Given the description of an element on the screen output the (x, y) to click on. 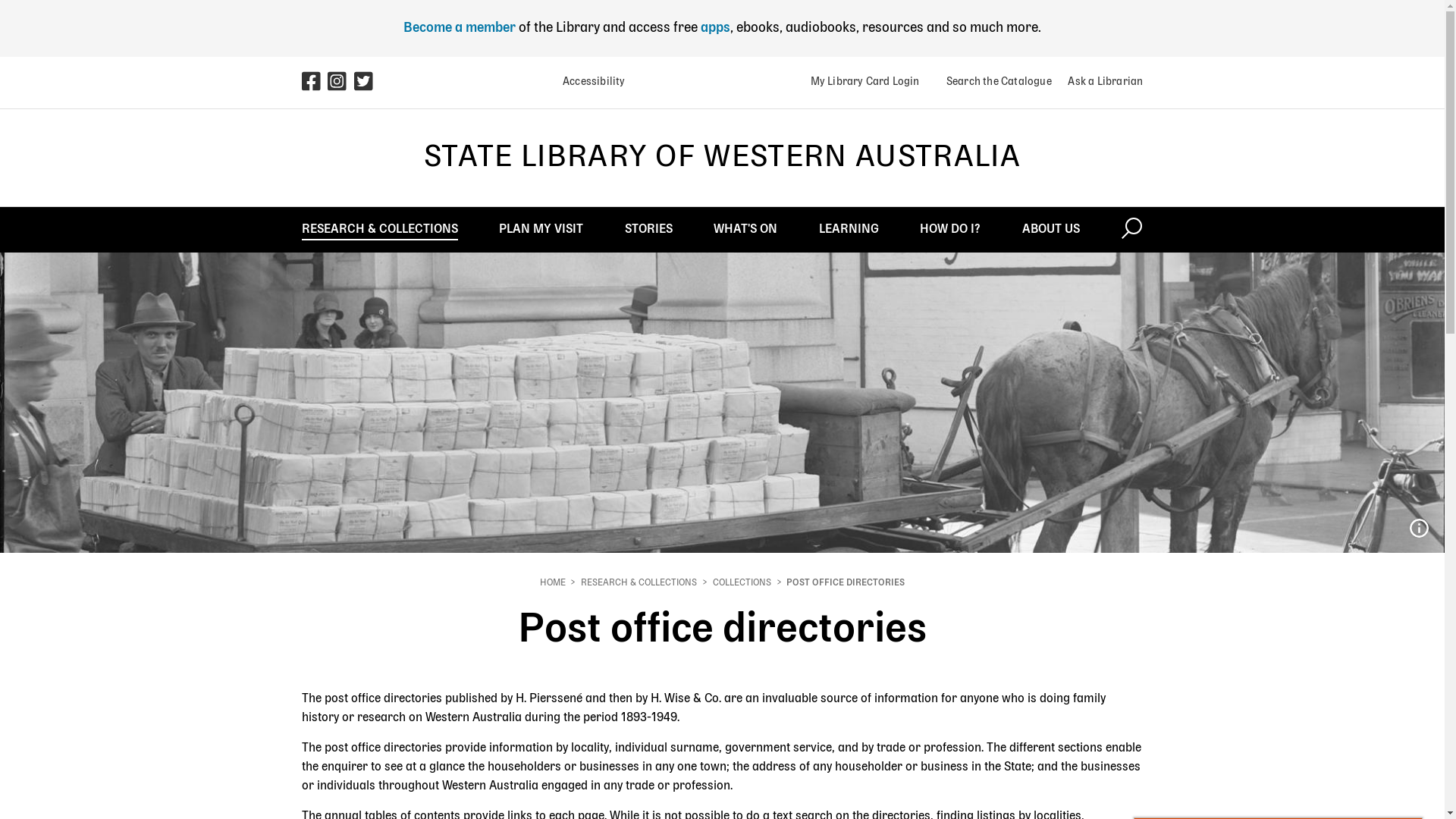
Facebook Element type: text (314, 82)
Facebook Element type: hover (311, 86)
Instagram Element type: hover (337, 86)
LEARNING Element type: text (848, 228)
My Library Card Login Element type: text (864, 82)
PLAN MY VISIT Element type: text (540, 228)
apps Element type: text (715, 27)
COLLECTIONS Element type: text (741, 582)
Twitter Element type: text (367, 82)
Become a member Element type: text (459, 27)
WHAT'S ON Element type: text (745, 228)
ABOUT US Element type: text (1050, 228)
HOW DO I? Element type: text (949, 228)
Accessibility Element type: text (588, 82)
Search Element type: text (1131, 228)
013562PD_Horse cart loaded with mail 1930 Element type: text (1418, 528)
Twitter Element type: hover (364, 86)
Ask a Librarian Element type: text (1098, 82)
STATE LIBRARY OF WESTERN AUSTRALIA Element type: text (721, 157)
Search the Catalogue Element type: text (993, 82)
RESEARCH & COLLECTIONS Element type: text (379, 228)
RESEARCH & COLLECTIONS Element type: text (638, 582)
HOME Element type: text (552, 582)
STORIES Element type: text (648, 228)
Instagram Element type: text (340, 82)
Skip to main content Element type: text (0, 0)
